Given the description of an element on the screen output the (x, y) to click on. 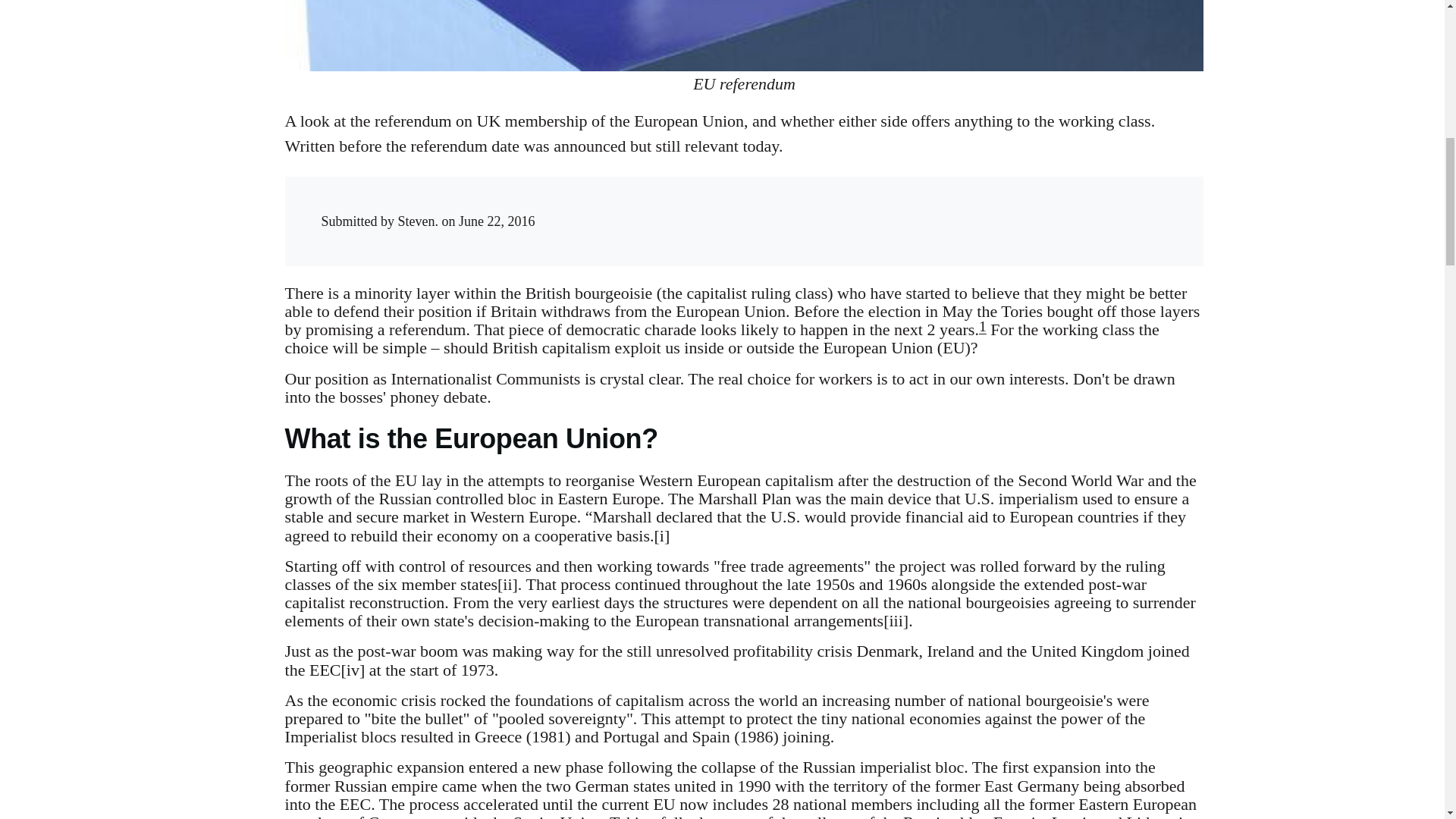
EU referendum (744, 35)
Share to Twitter (945, 206)
Share to Facebook (914, 206)
Share to Reddit (975, 206)
